Given the description of an element on the screen output the (x, y) to click on. 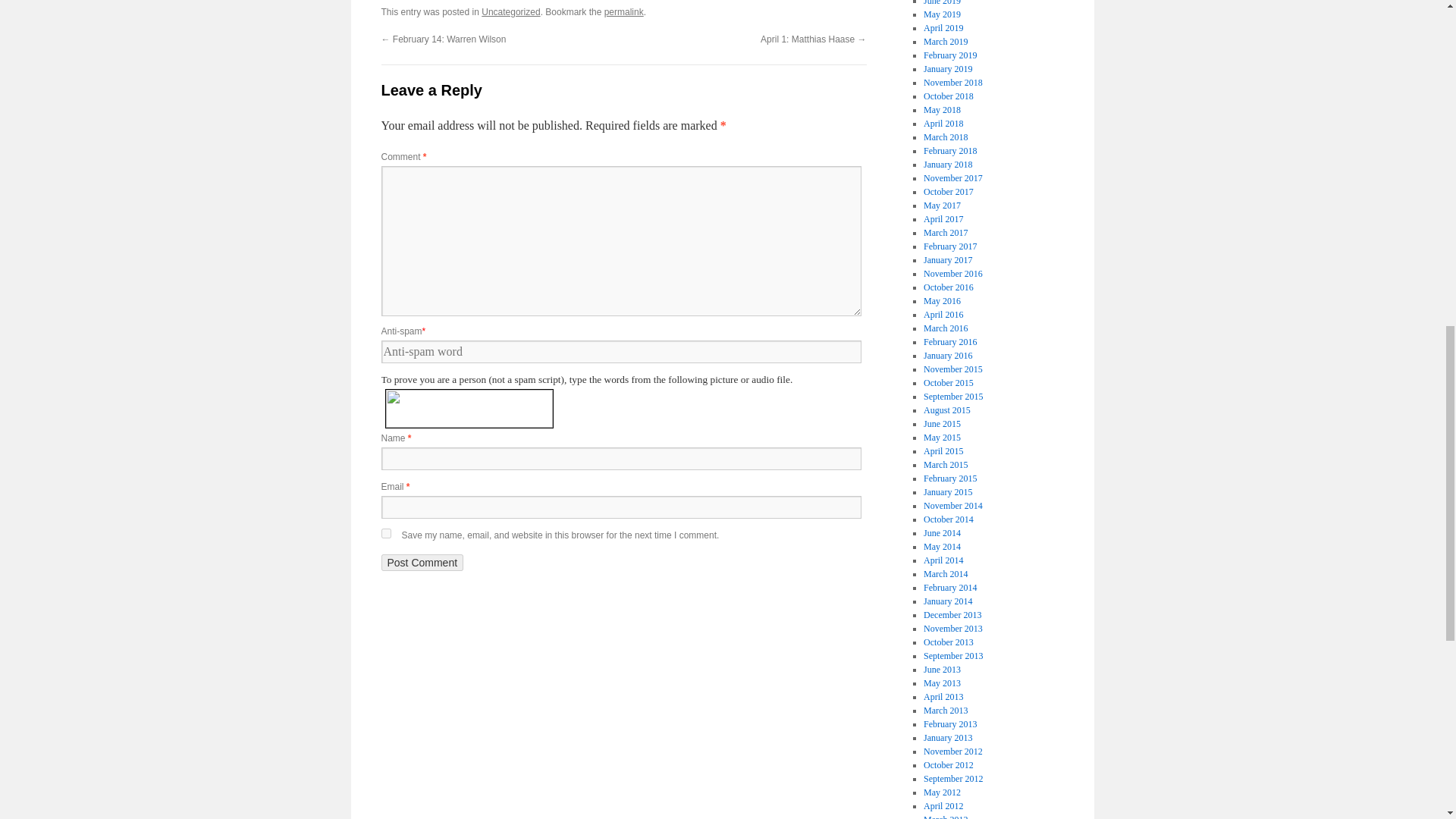
Post Comment (421, 562)
Post Comment (421, 562)
Permalink to February 28: Patricia Marechal (623, 11)
Load new (562, 414)
Listen (562, 398)
permalink (623, 11)
Uncategorized (510, 11)
yes (385, 533)
